Given the description of an element on the screen output the (x, y) to click on. 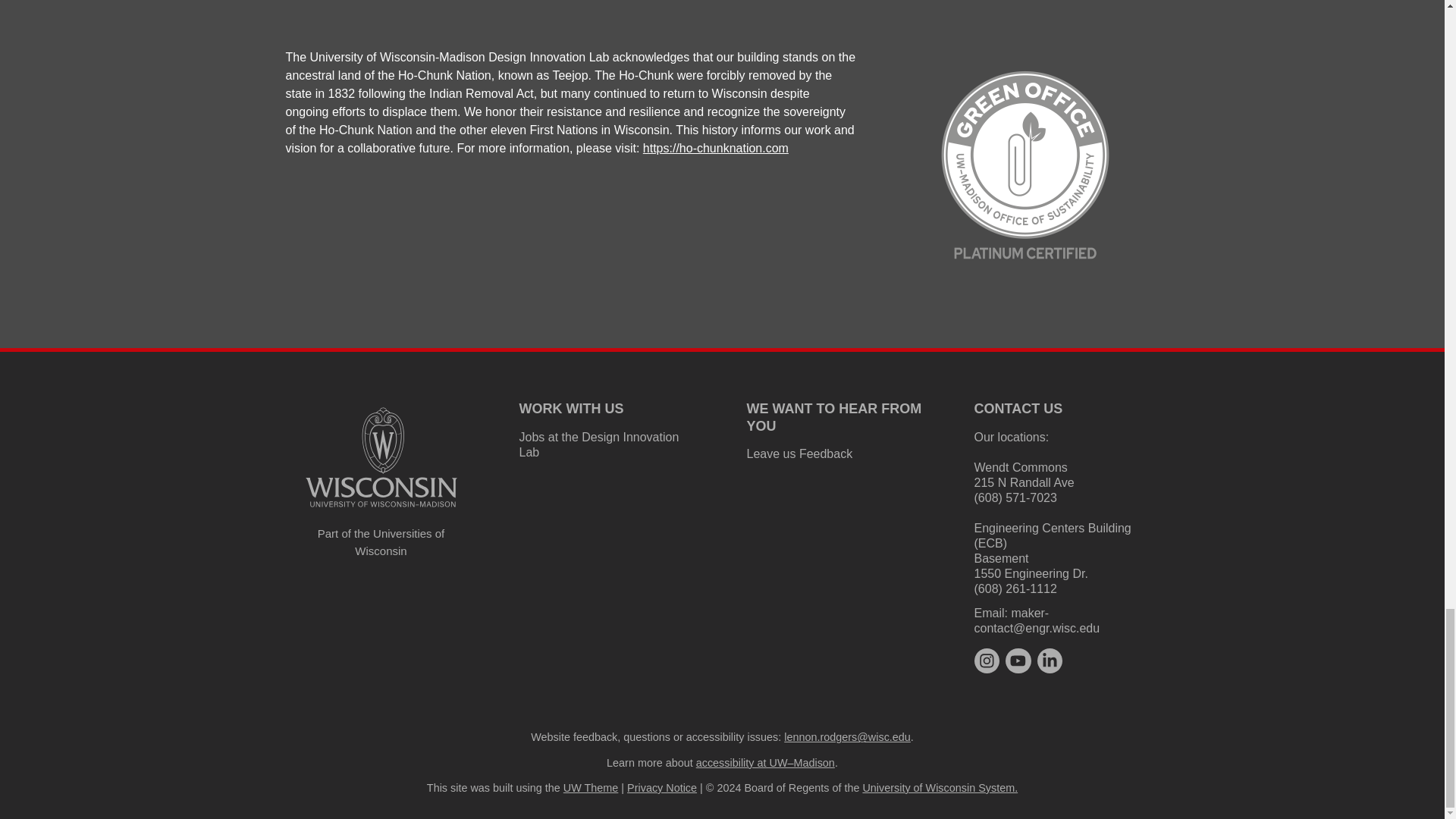
youtube (1018, 660)
instagram (986, 660)
University logo that links to main university website (380, 509)
instagram (986, 661)
Part of the Universities of Wisconsin (380, 542)
Leave us Feedback (798, 453)
University logo that links to main university website (380, 457)
Jobs at the Design Innovation Lab (598, 444)
linkedin (1049, 660)
